Given the description of an element on the screen output the (x, y) to click on. 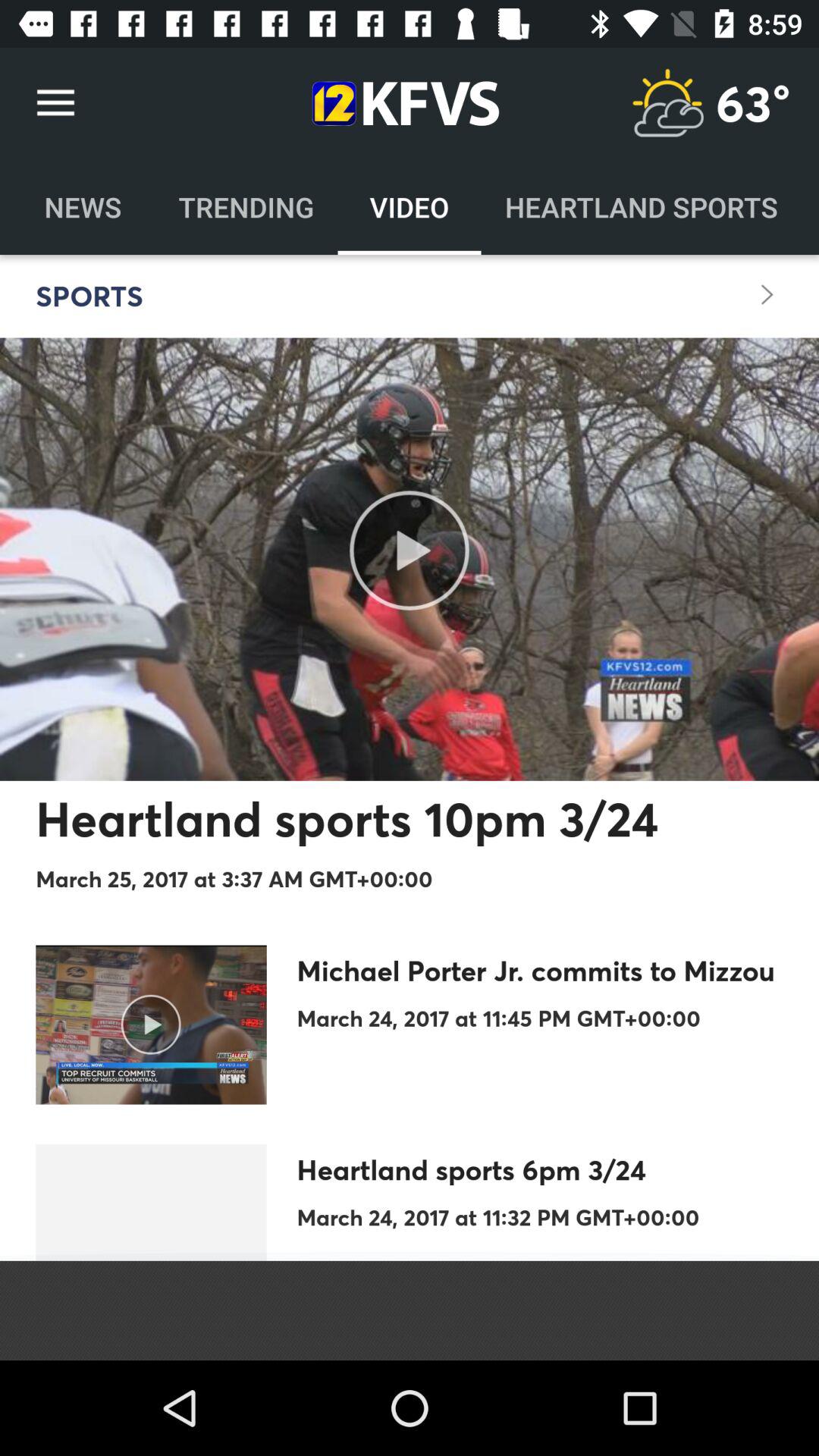
select the image above video option (400, 103)
click on image below heartland sports 10pm 324 (151, 1024)
click on the temperature icon at the top right corner of the page (667, 102)
